Given the description of an element on the screen output the (x, y) to click on. 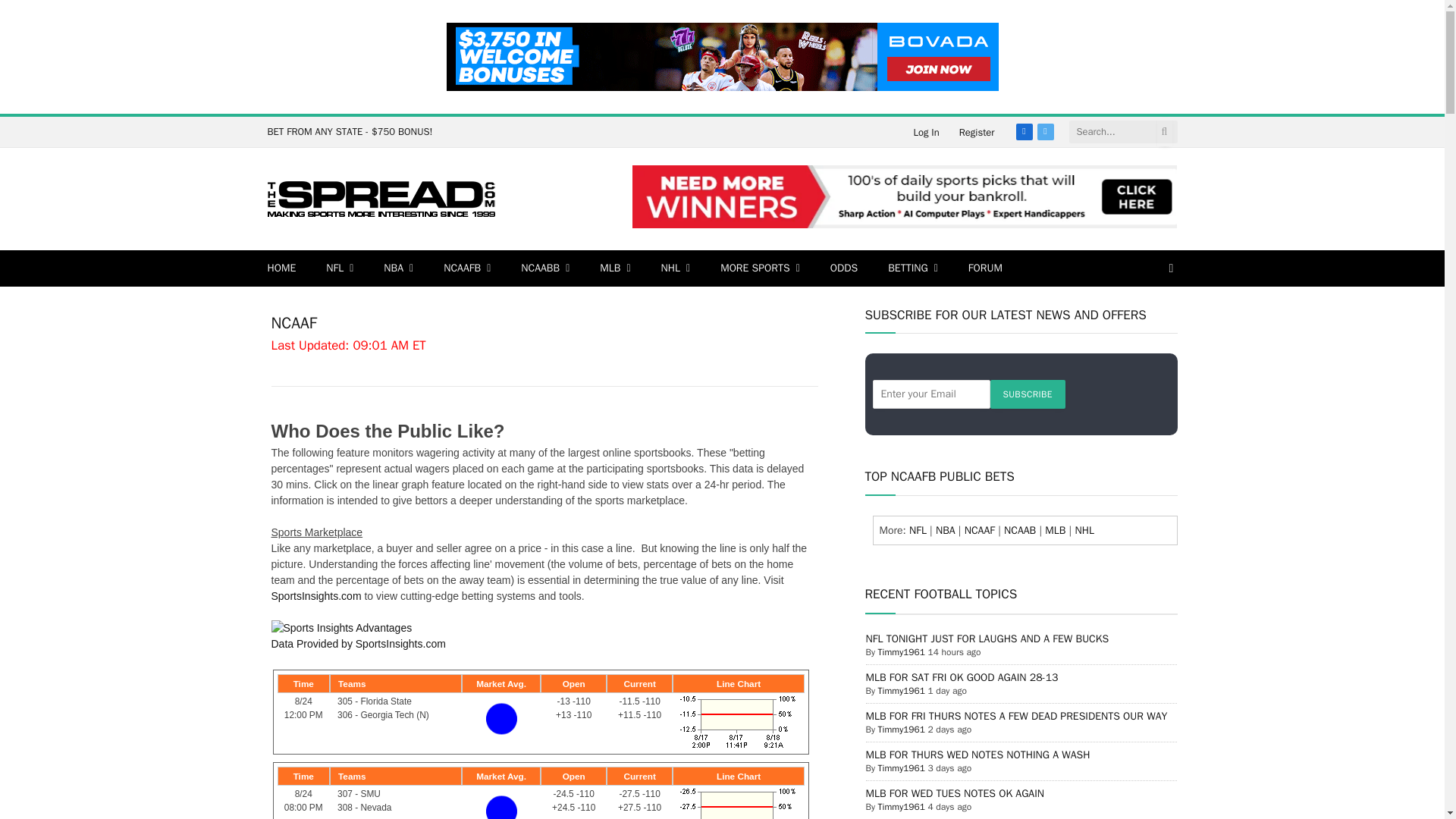
NCAAFB (466, 268)
NFL TONIGHT JUST FOR LAUGHS AND A FEW BUCKS (987, 638)
MLB FOR FRI THURS NOTES A FEW DEAD PRESIDENTS OUR WAY (1016, 716)
MLB (615, 268)
Switch to Dark Design - easier on eyes. (1168, 268)
Facebook (1024, 131)
Log In (925, 132)
MLB FOR SAT FRI OK GOOD AGAIN 28-13 (962, 676)
MLB FOR THURS WED NOTES NOTHING A WASH (978, 754)
Timmy1961 (900, 690)
